Given the description of an element on the screen output the (x, y) to click on. 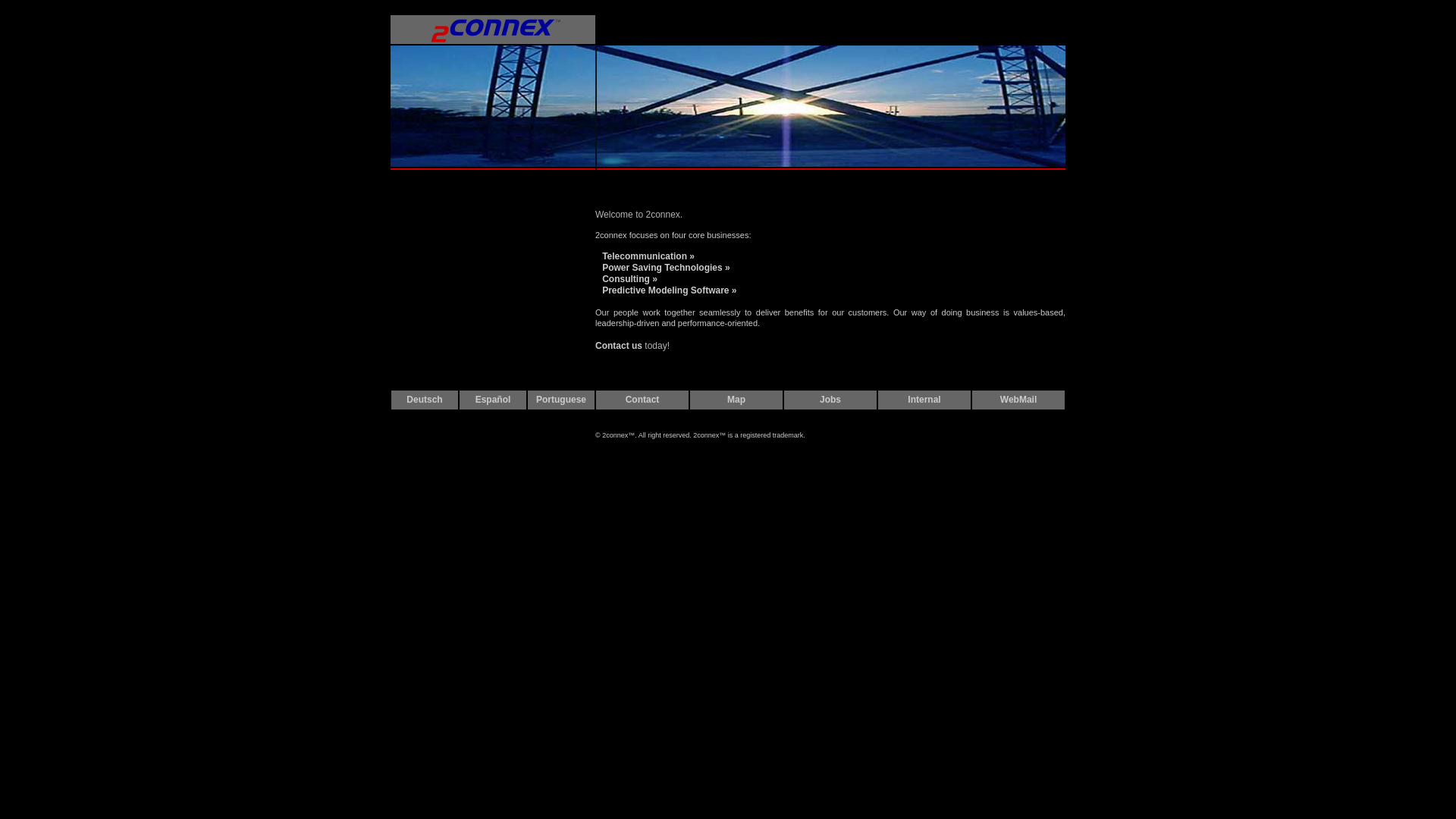
Deutsch Element type: text (424, 399)
Portuguese Element type: text (561, 399)
2connex Home Element type: hover (492, 42)
Contact us Element type: text (618, 345)
Jobs Element type: text (829, 399)
WebMail Element type: text (1018, 399)
Map Element type: text (736, 399)
Contact Element type: text (642, 399)
Internal Element type: text (923, 399)
